Given the description of an element on the screen output the (x, y) to click on. 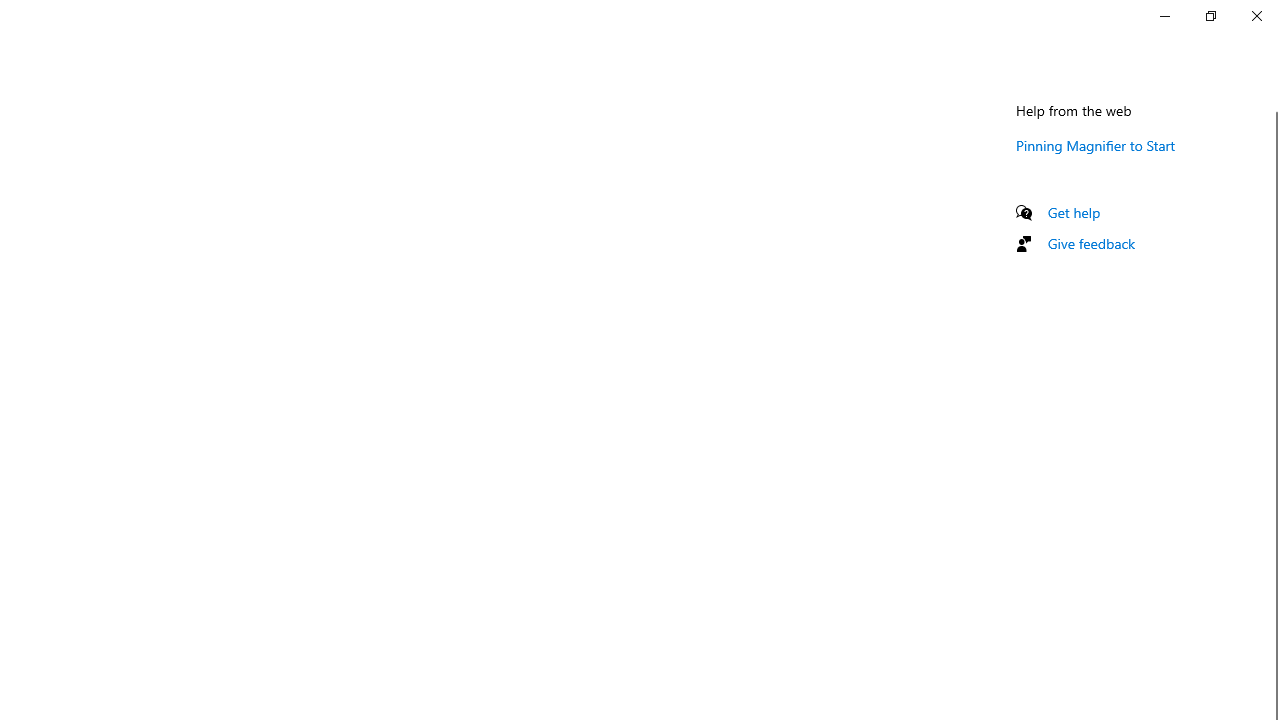
Give feedback (1091, 243)
Vertical Small Decrease (1272, 103)
Close Settings (1256, 15)
Minimize Settings (1164, 15)
Get help (1074, 212)
Restore Settings (1210, 15)
Pinning Magnifier to Start (1096, 145)
